Given the description of an element on the screen output the (x, y) to click on. 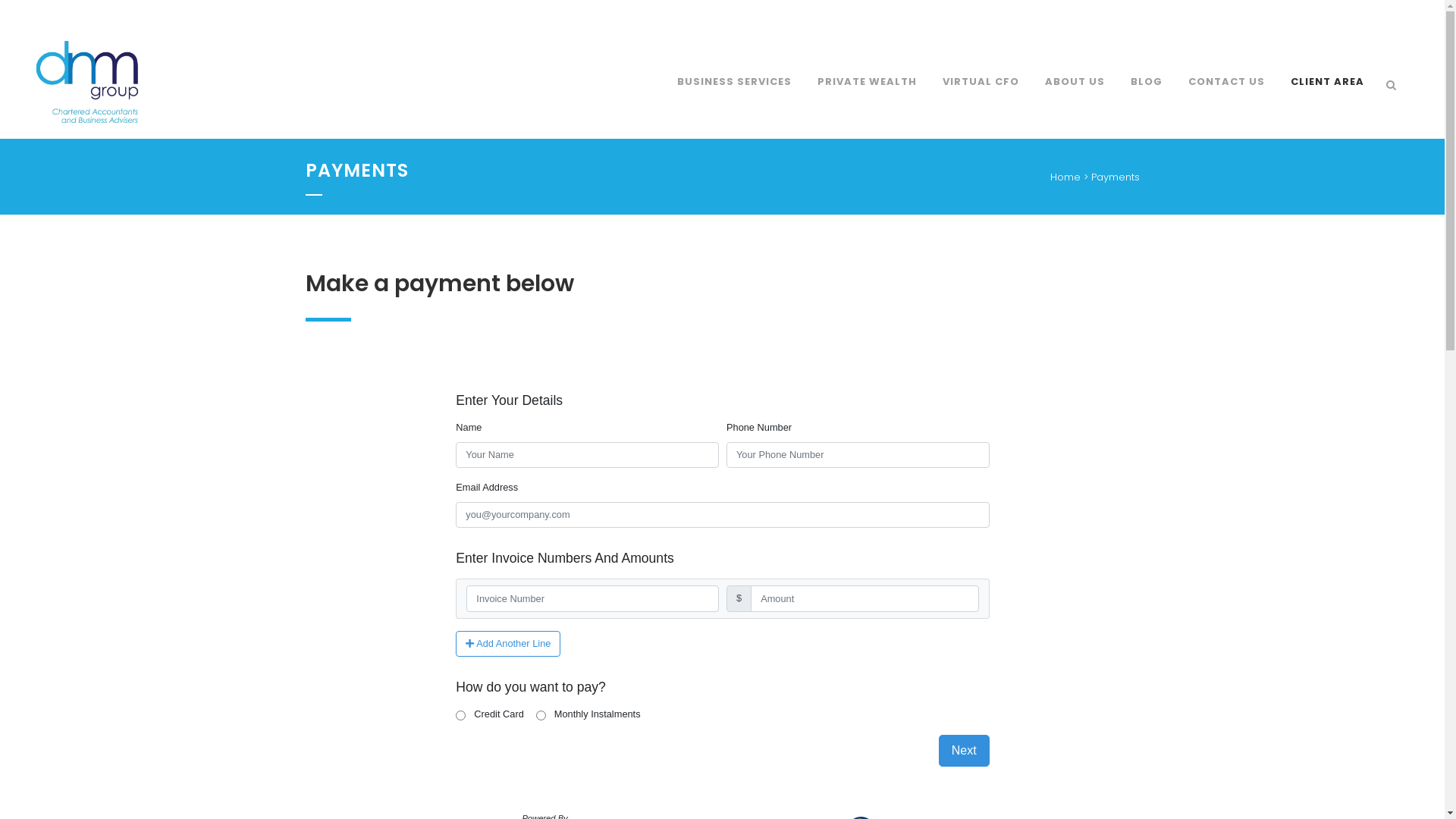
Home Element type: text (1064, 176)
CONTACT US Element type: text (1226, 81)
PRIVATE WEALTH Element type: text (866, 81)
CLIENT AREA Element type: text (1327, 81)
ABOUT US Element type: text (1074, 81)
BLOG Element type: text (1146, 81)
VIRTUAL CFO Element type: text (980, 81)
BUSINESS SERVICES Element type: text (734, 81)
